Given the description of an element on the screen output the (x, y) to click on. 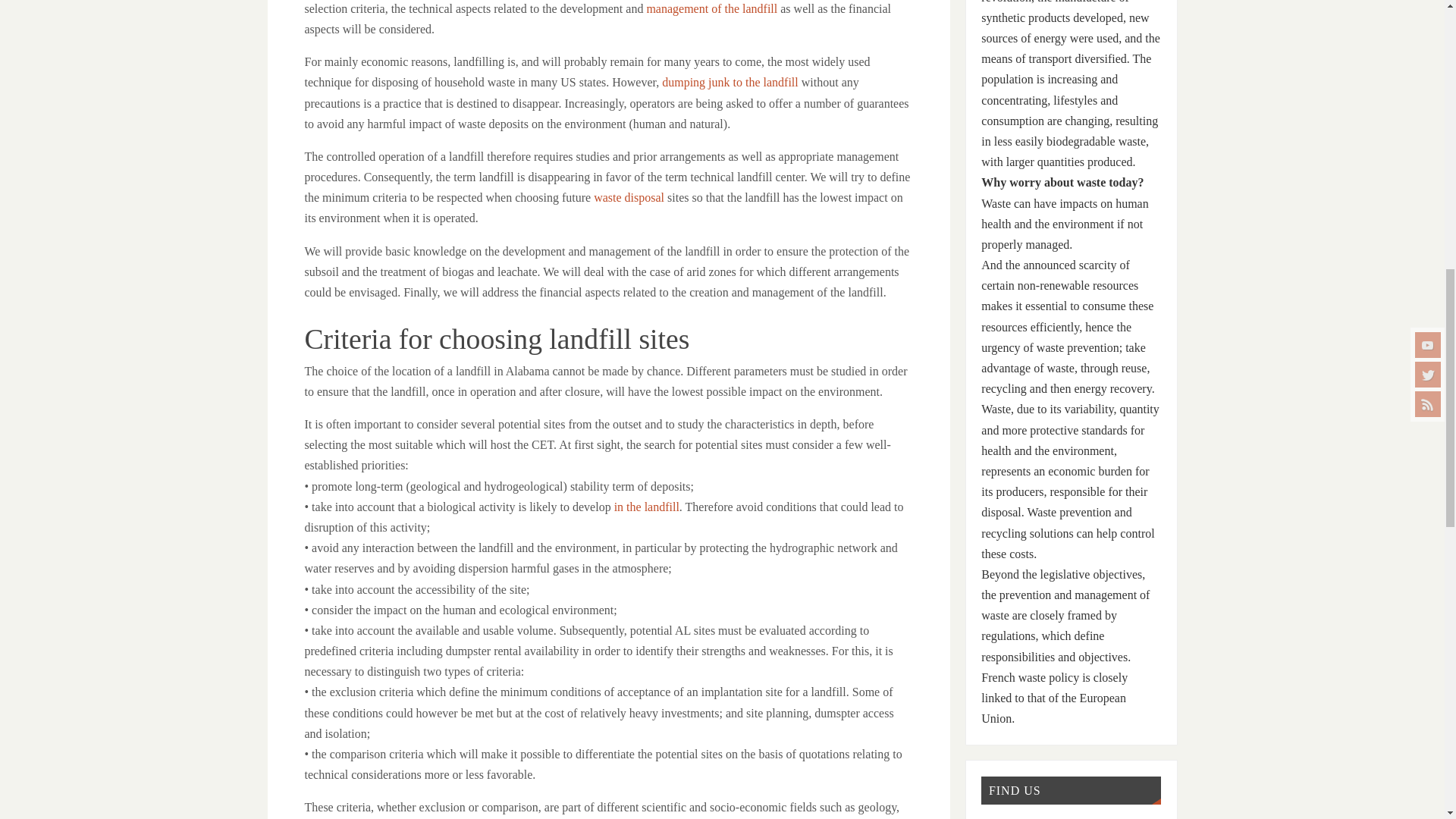
dumping junk to the landfill (729, 82)
waste disposal (628, 196)
in the landfill (646, 506)
management of the landfill (711, 8)
